Given the description of an element on the screen output the (x, y) to click on. 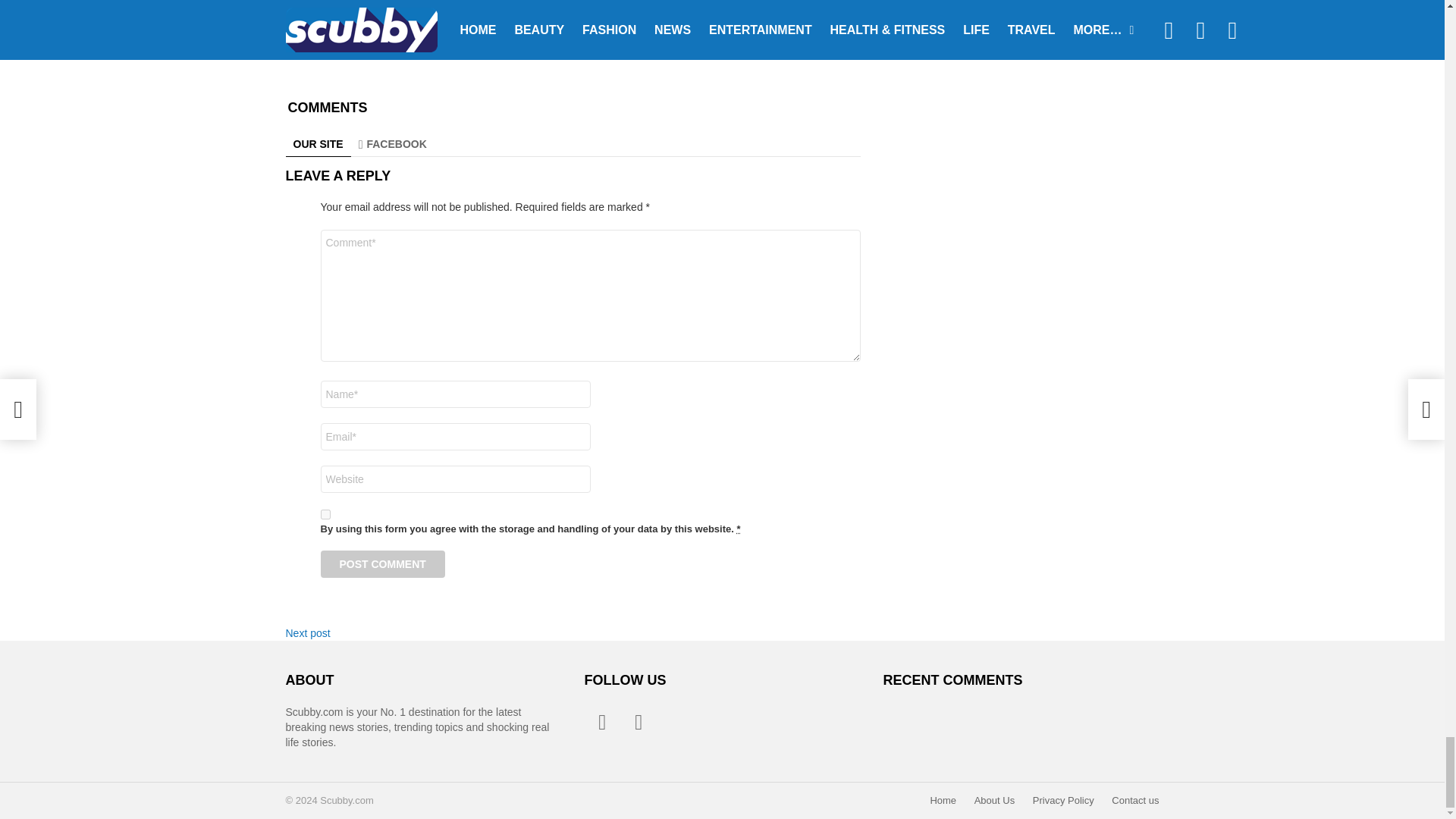
Post Comment (382, 564)
FACEBOOK (391, 144)
1 (325, 514)
OUR SITE (317, 144)
Post Comment (382, 564)
You need to accept this checkbox (737, 528)
